Given the description of an element on the screen output the (x, y) to click on. 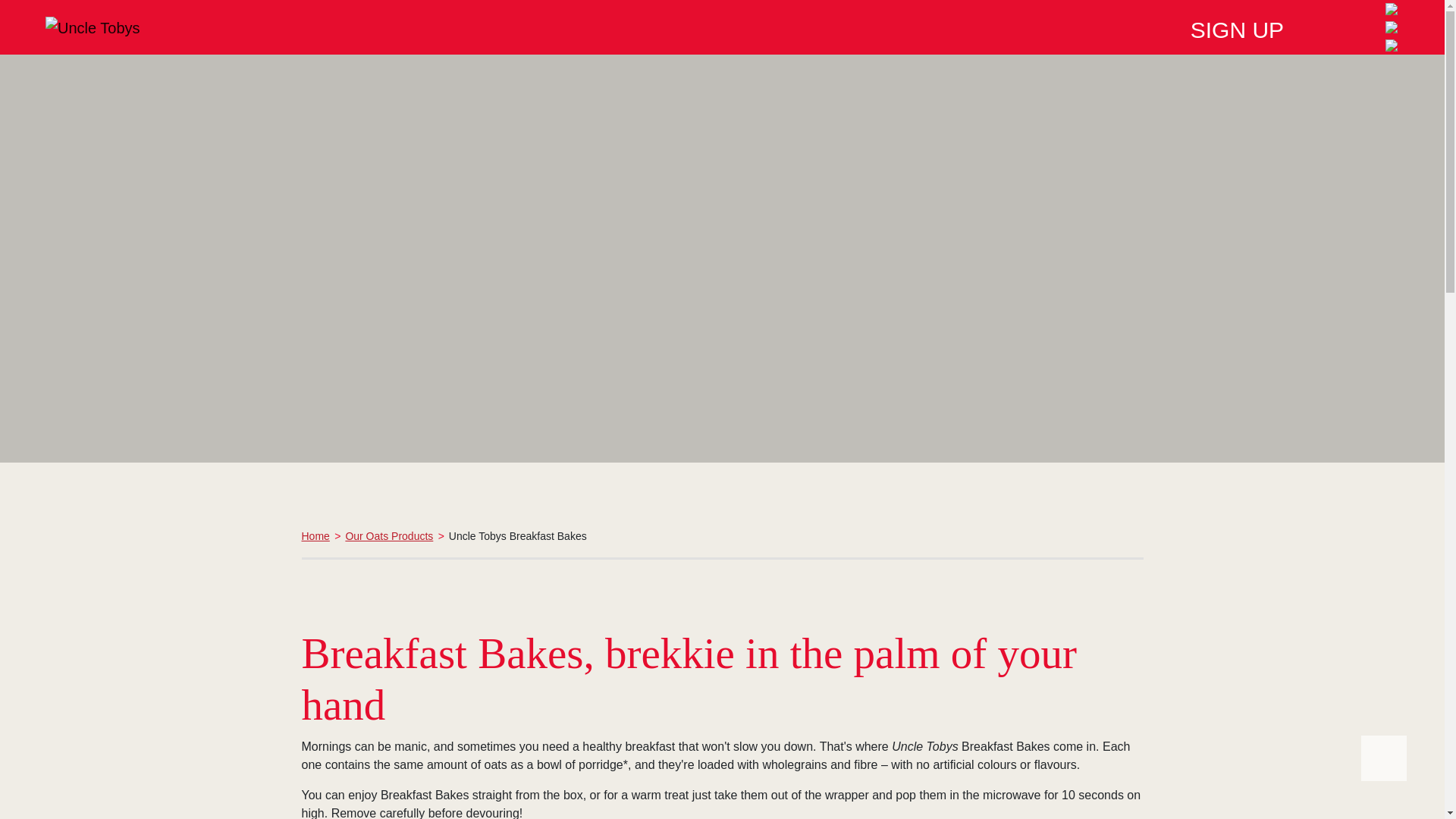
SIGN UP (1237, 26)
Our Oats Products (388, 535)
Home (315, 535)
